Given the description of an element on the screen output the (x, y) to click on. 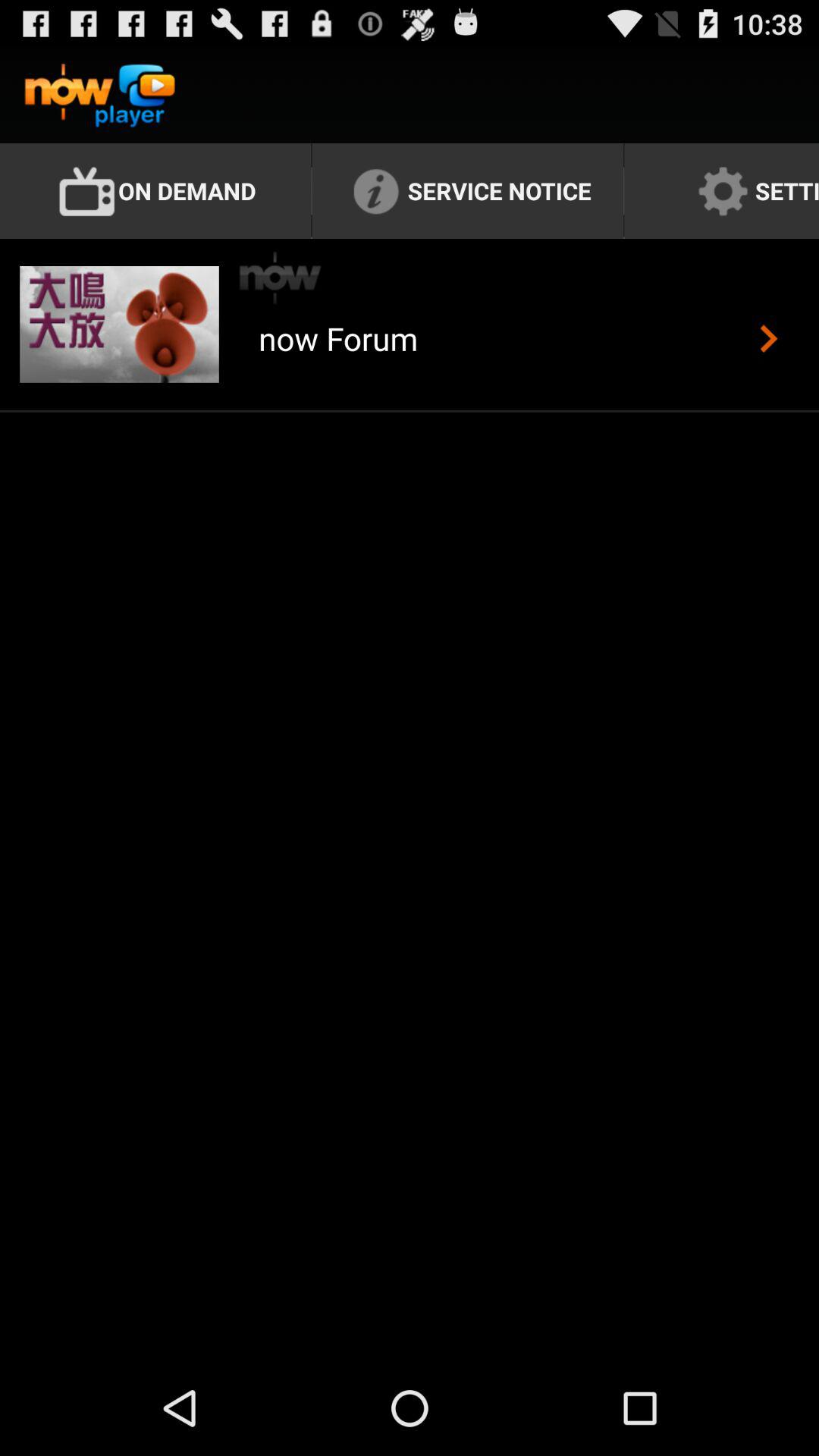
launch icon above now forum app (280, 277)
